Given the description of an element on the screen output the (x, y) to click on. 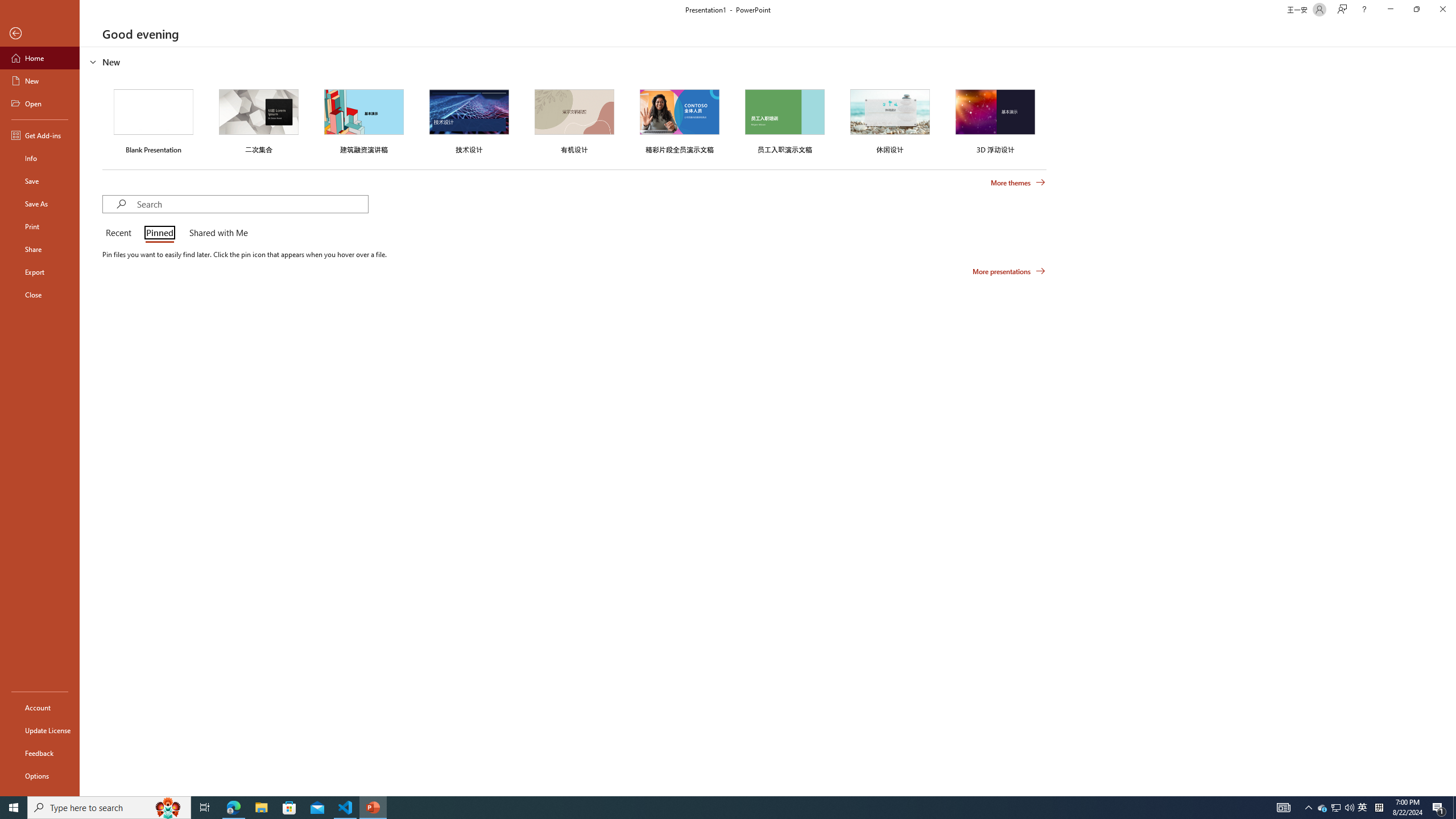
Get Add-ins (40, 134)
Export (40, 271)
Recent (119, 233)
New (40, 80)
Update License (40, 730)
More themes (1018, 182)
